Given the description of an element on the screen output the (x, y) to click on. 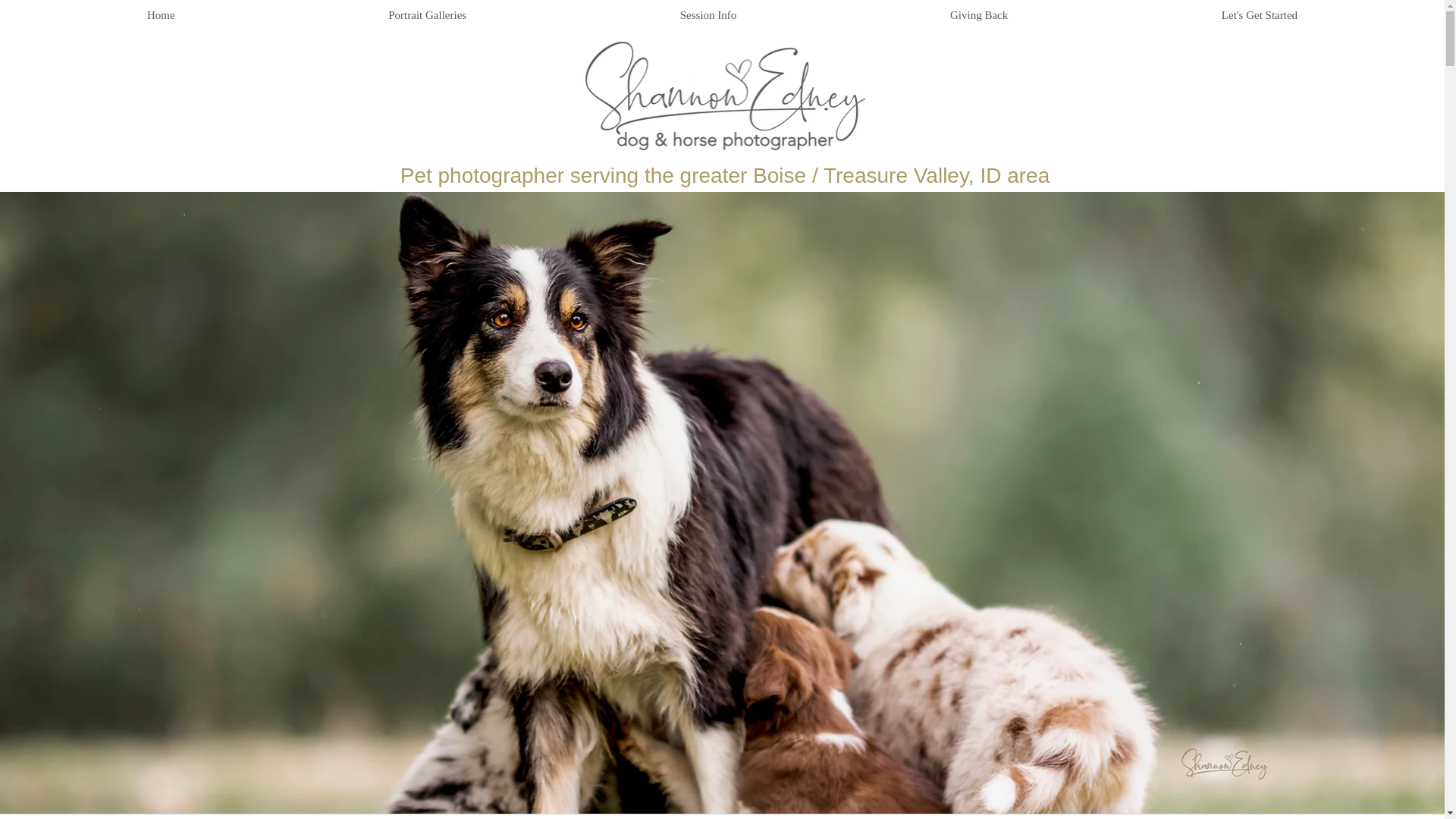
Portrait Galleries (426, 15)
Giving Back (978, 15)
Home (160, 15)
Let's Get Started (1259, 15)
Session Info (708, 15)
